Given the description of an element on the screen output the (x, y) to click on. 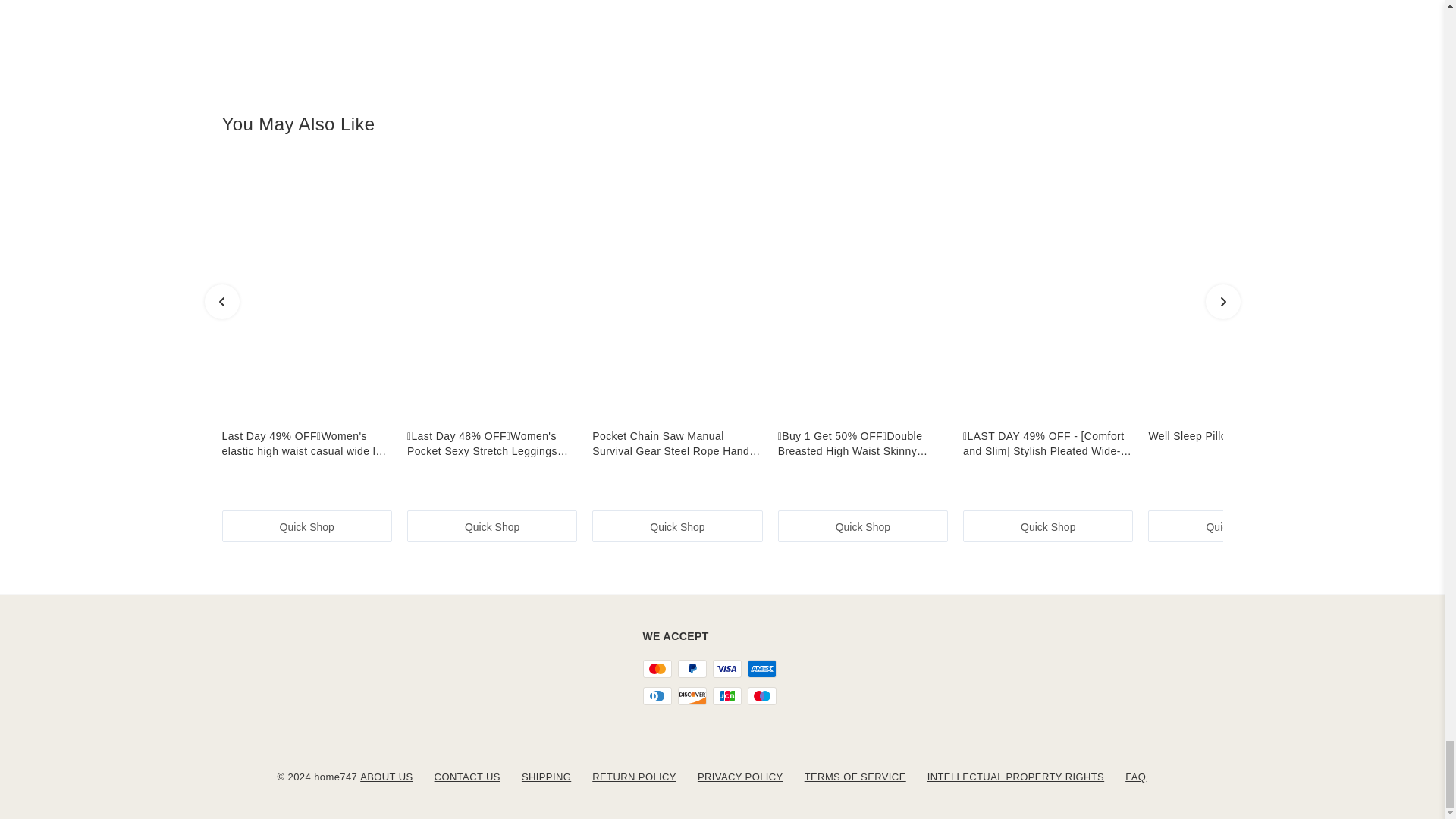
Quick Shop (306, 526)
Quick Shop (676, 526)
Quick Shop (1232, 526)
Quick Shop (862, 526)
Quick Shop (491, 526)
Quick Shop (1047, 526)
